Given the description of an element on the screen output the (x, y) to click on. 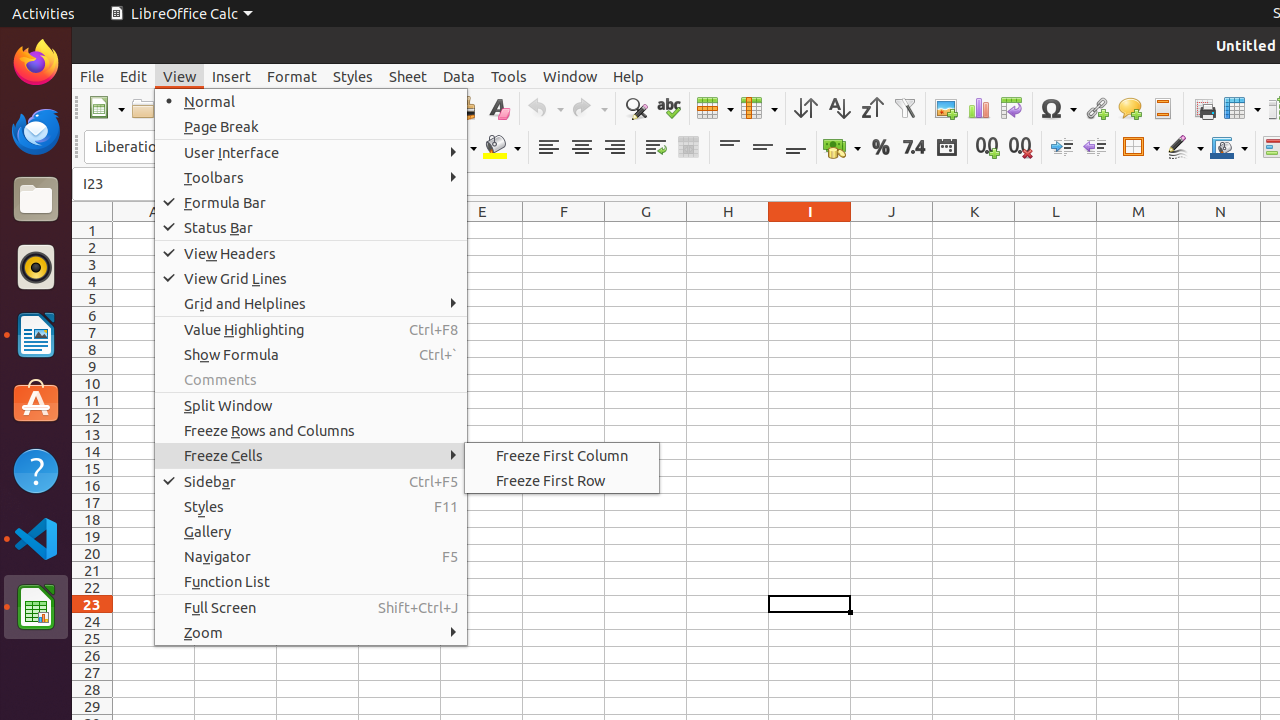
Image Element type: push-button (945, 108)
Increase Element type: push-button (1061, 147)
Row Element type: push-button (715, 108)
Add Decimal Place Element type: push-button (987, 147)
C1 Element type: table-cell (318, 230)
